Given the description of an element on the screen output the (x, y) to click on. 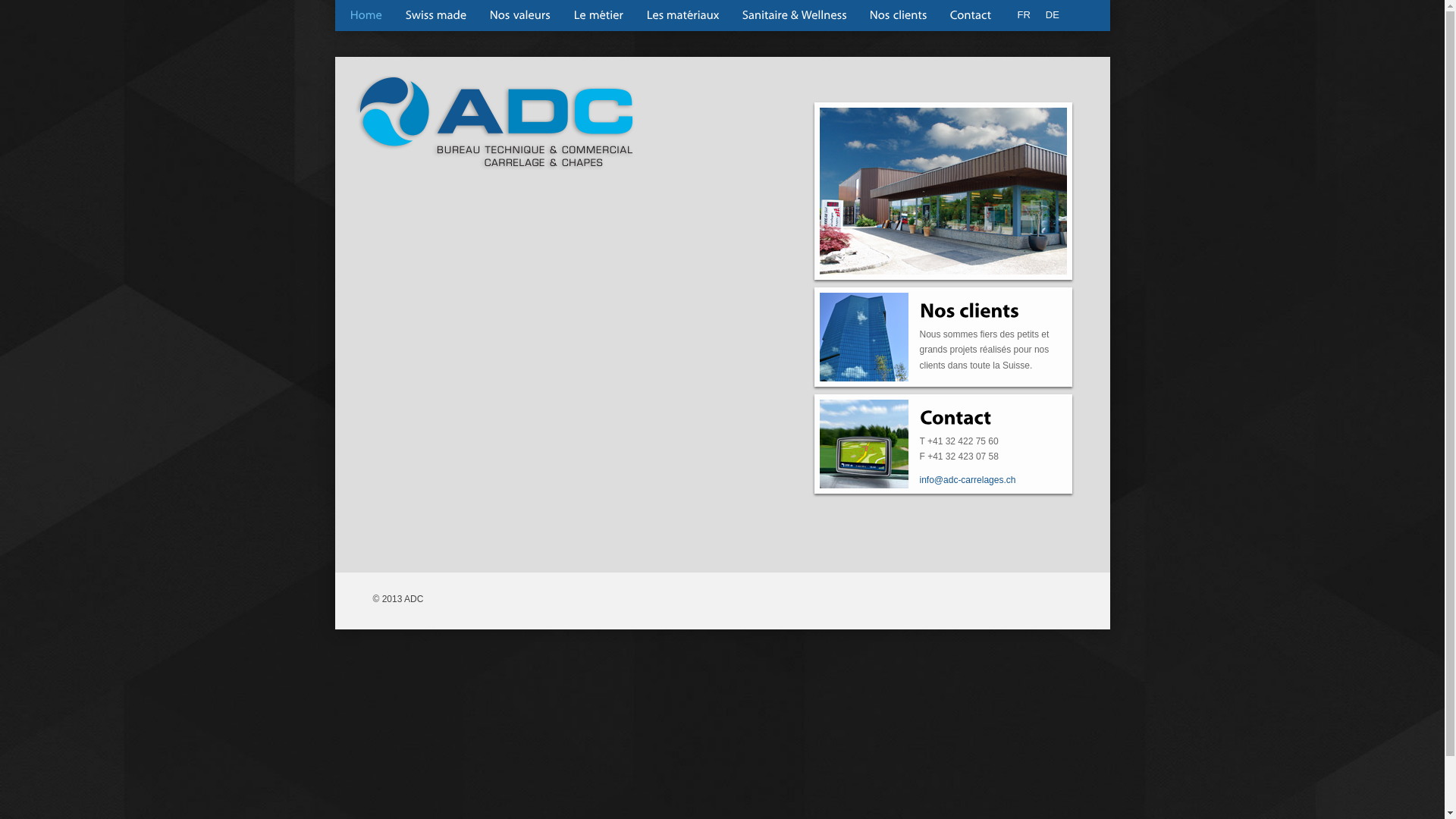
Contact Element type: text (954, 415)
Contact Element type: text (970, 15)
Nos clients Element type: text (968, 309)
DE Element type: text (1052, 14)
ADC Carrelages Element type: hover (488, 122)
Nos valeurs Element type: text (519, 15)
Swiss made Element type: text (879, 123)
Nos clients Element type: text (898, 15)
Sanitaire & Wellness Element type: text (794, 15)
info@adc-carrelages.ch Element type: text (967, 479)
Home Element type: text (365, 15)
FR Element type: text (1023, 14)
Swiss made Element type: text (436, 15)
